Given the description of an element on the screen output the (x, y) to click on. 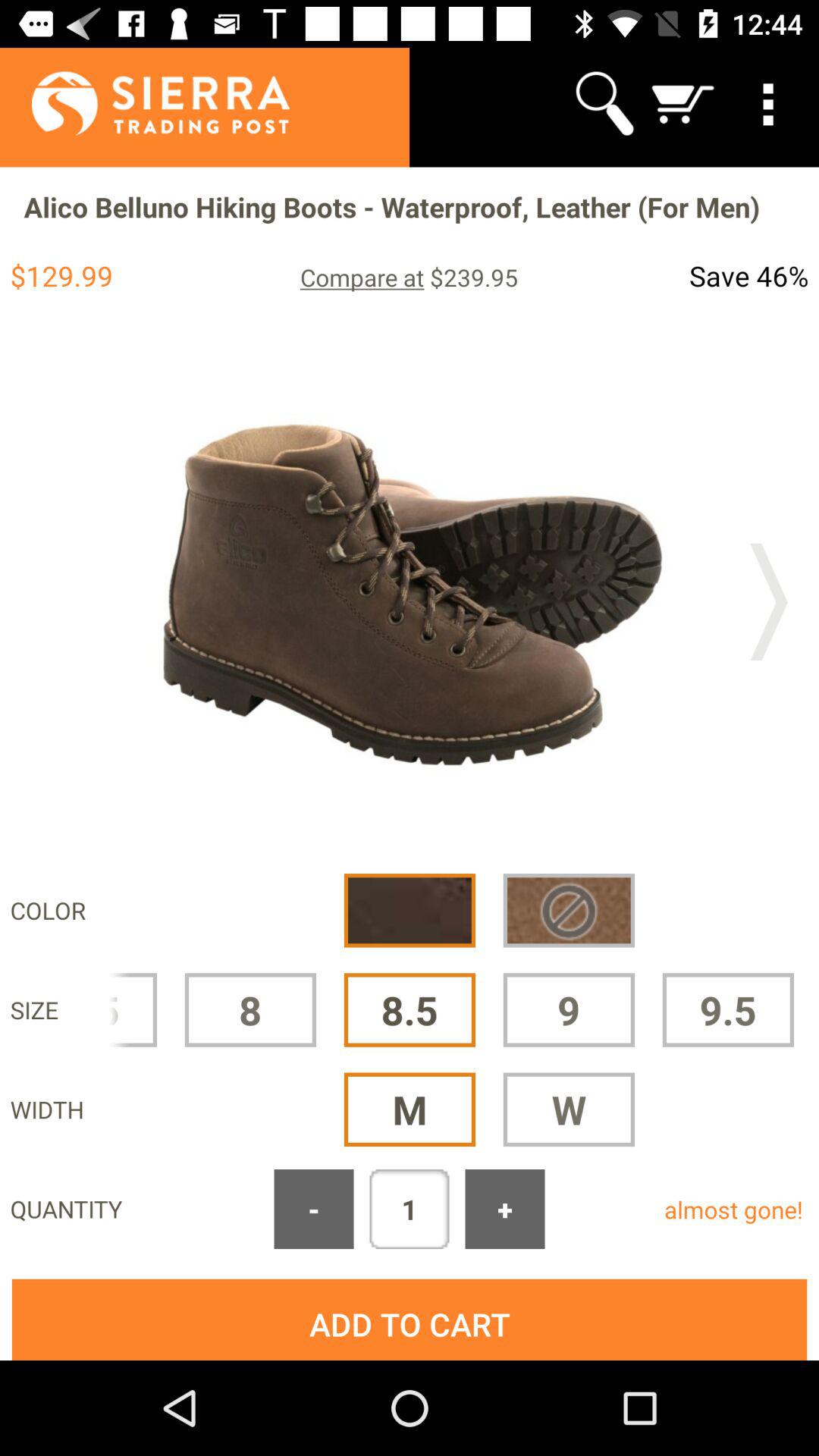
turn off the app above the alico belluno hiking item (144, 103)
